Given the description of an element on the screen output the (x, y) to click on. 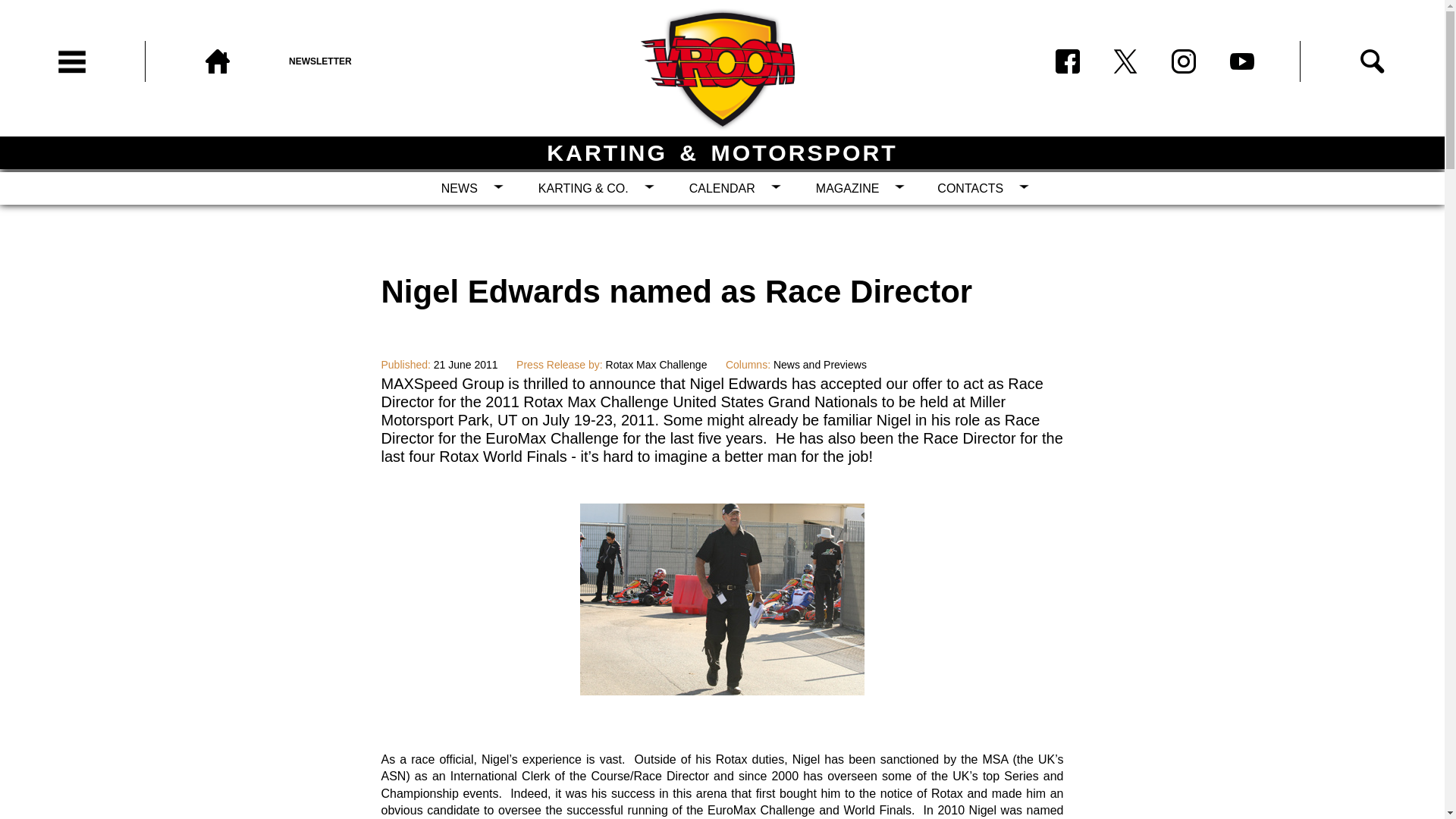
NEWSLETTER (360, 60)
Nigel Edwards named as Race Director  (721, 690)
NEWSLETTER (360, 60)
Search (1371, 60)
